Given the description of an element on the screen output the (x, y) to click on. 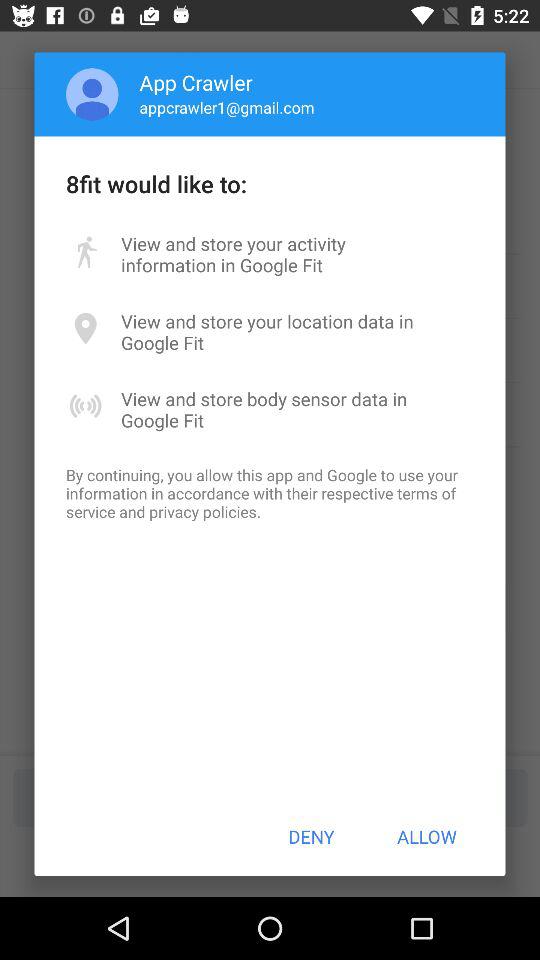
open the app above the 8fit would like (226, 107)
